Given the description of an element on the screen output the (x, y) to click on. 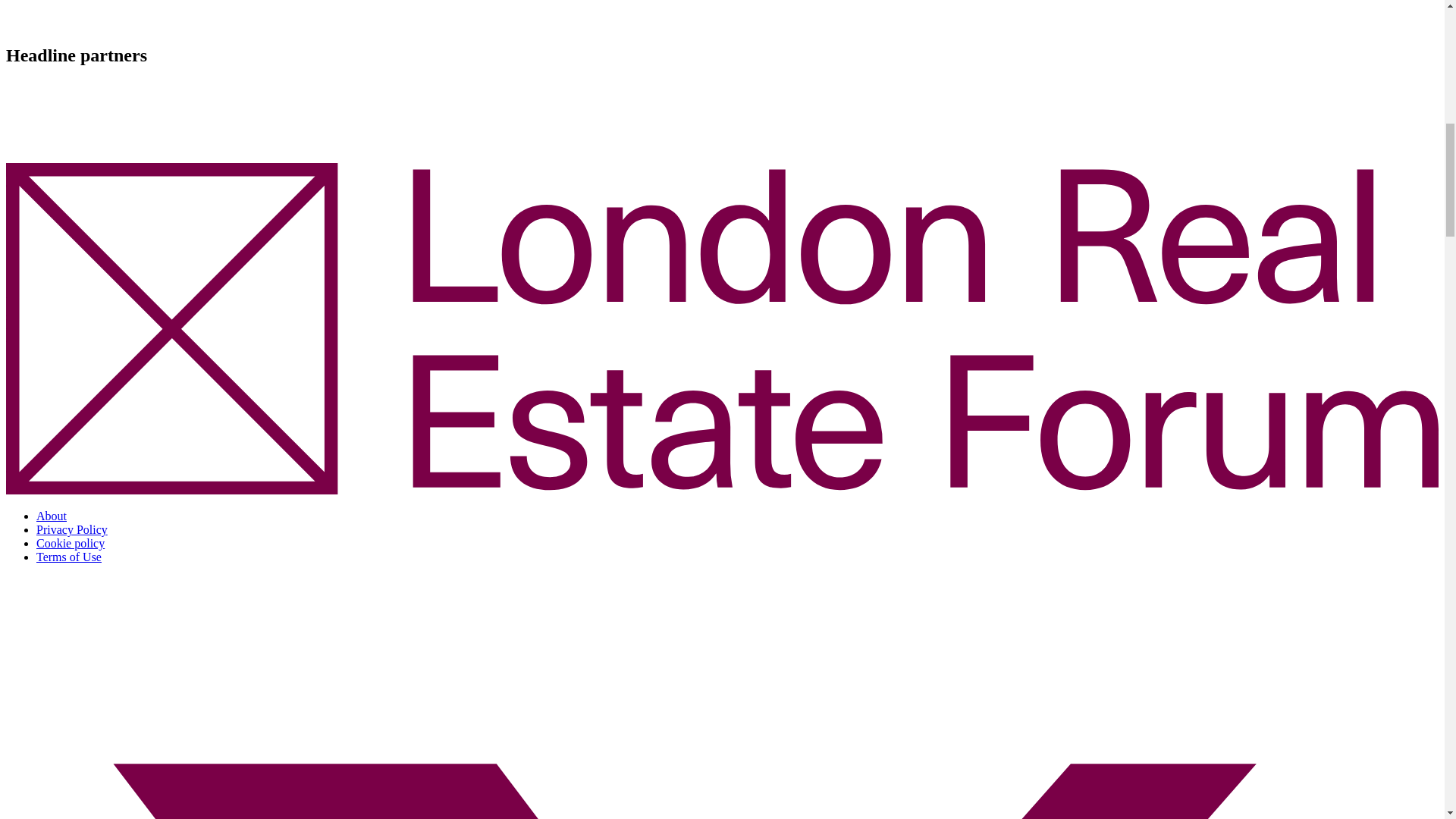
Privacy Policy (71, 529)
About (51, 515)
Terms of Use (68, 556)
Cookie policy (70, 543)
